Given the description of an element on the screen output the (x, y) to click on. 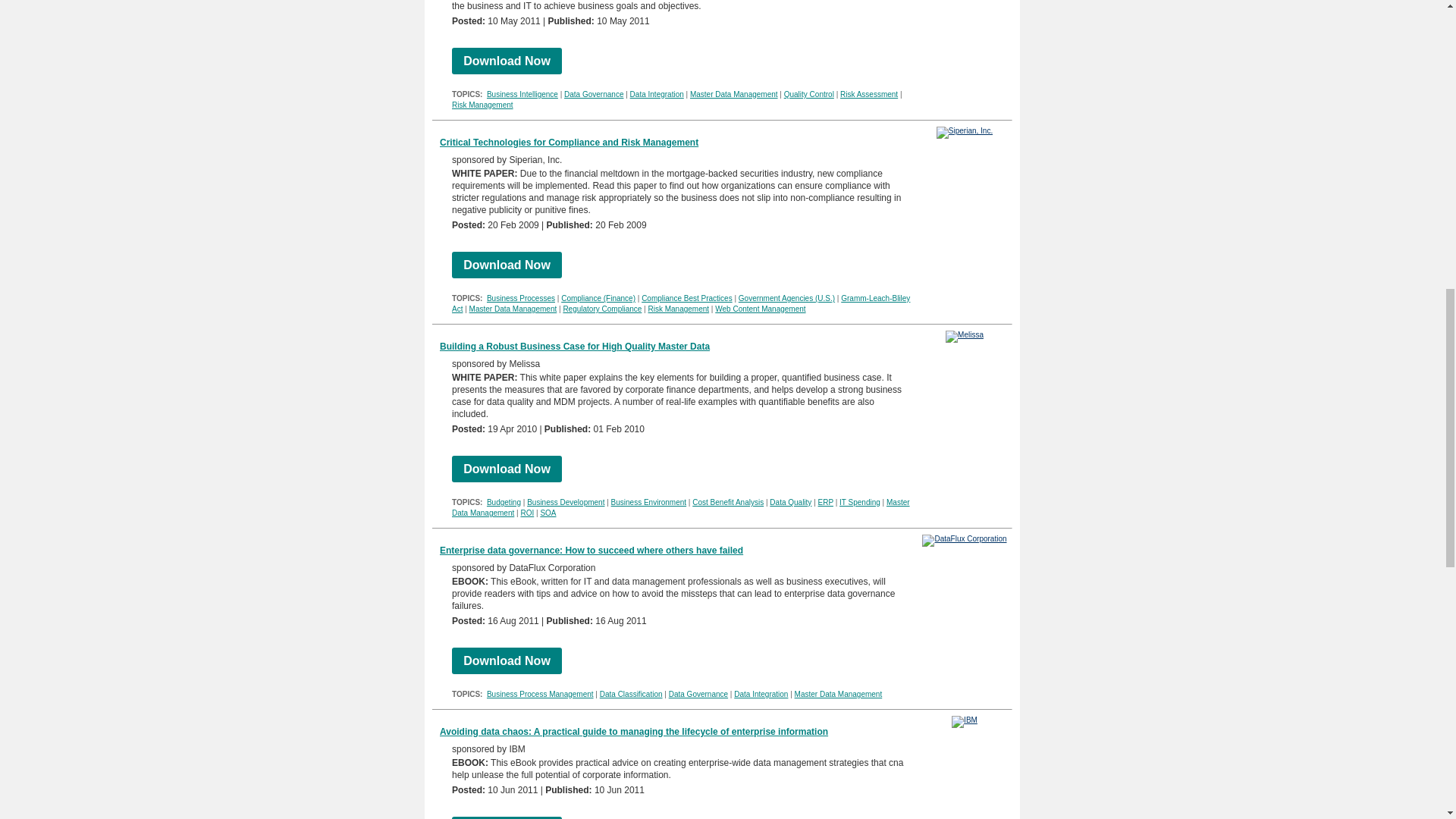
Data Integration (657, 94)
Business Intelligence (521, 94)
Data Governance (593, 94)
